Given the description of an element on the screen output the (x, y) to click on. 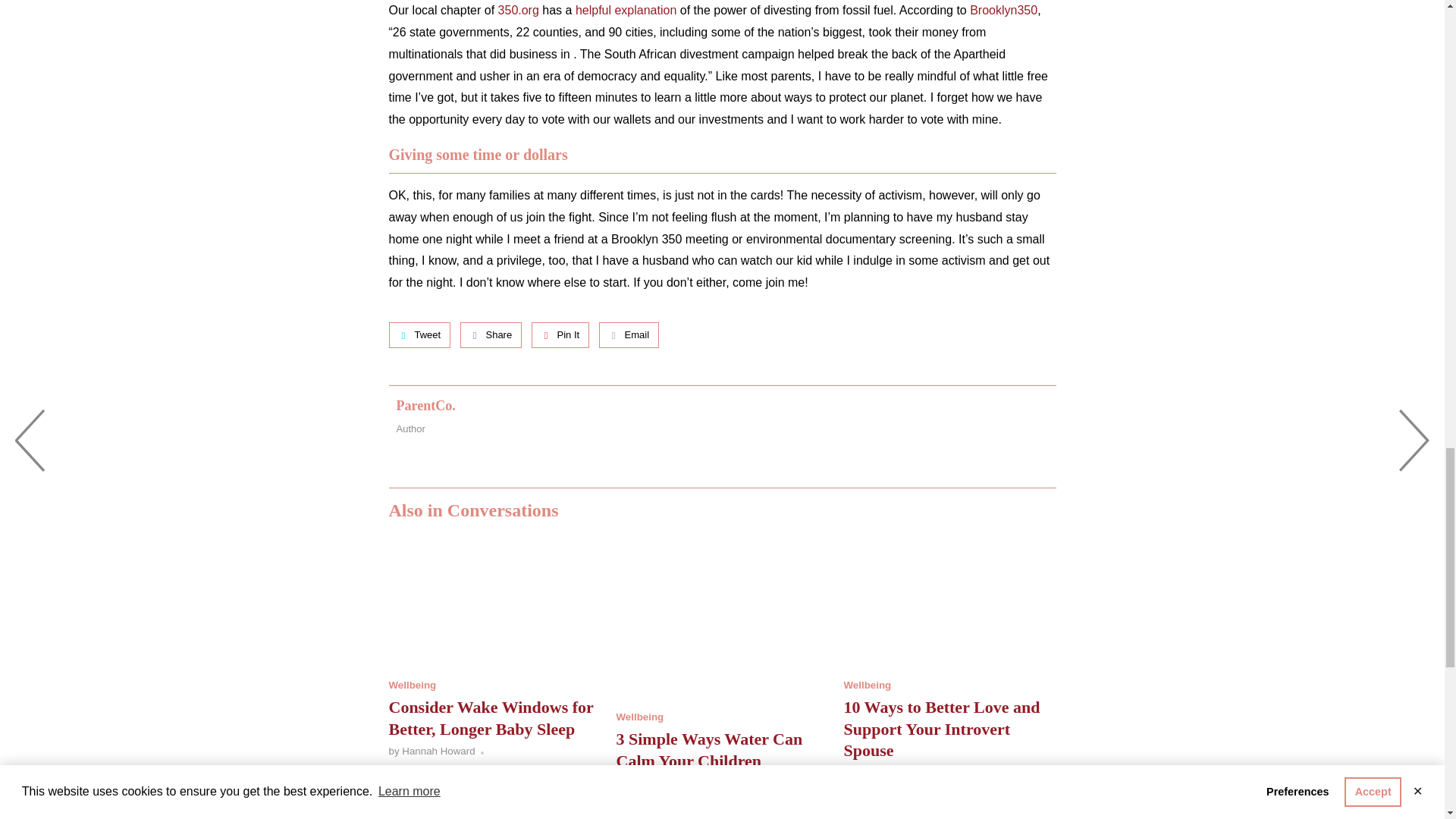
Share this on Pinterest (560, 335)
Consider Wake Windows for Better, Longer Baby Sleep (493, 604)
10 Ways to Better Love and Support Your Introvert Spouse (949, 604)
3 Simple Ways Water Can Calm Your Children (708, 749)
Conversations tagged Wellbeing (639, 716)
3 Simple Ways Water Can Calm Your Children (721, 620)
Share this on Facebook (491, 335)
Email this to a friend (628, 335)
Conversations tagged Wellbeing (411, 685)
Share this on Twitter (418, 335)
Consider Wake Windows for Better, Longer Baby Sleep (490, 717)
Conversations tagged Wellbeing (867, 685)
